Given the description of an element on the screen output the (x, y) to click on. 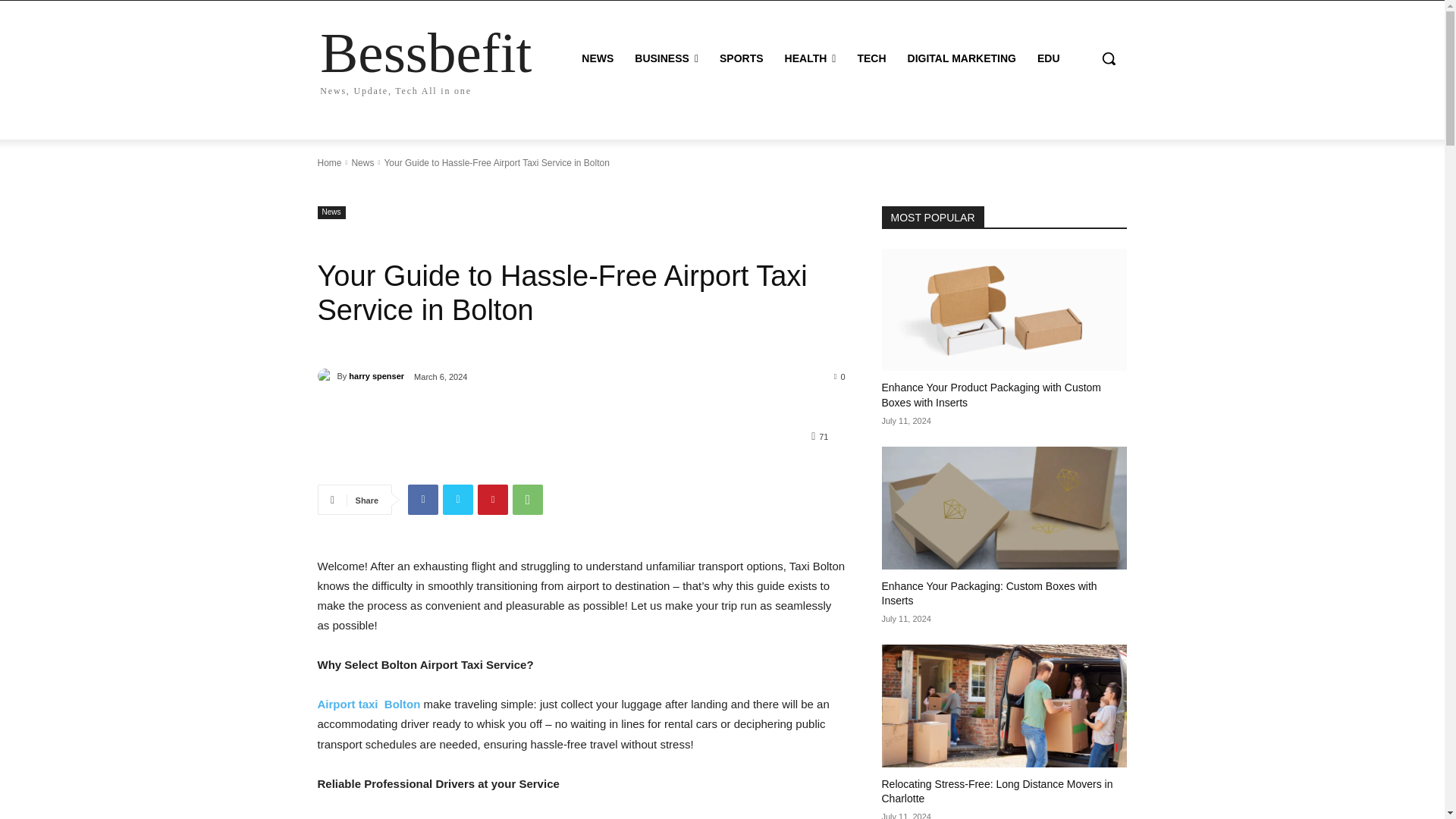
SPORTS (741, 58)
Home (328, 163)
Pinterest (492, 499)
TECH (870, 58)
View all posts in News (362, 163)
NEWS (597, 58)
harry spenser (326, 376)
WhatsApp (527, 499)
EDU (425, 58)
HEALTH (1048, 58)
BUSINESS (810, 58)
Facebook (666, 58)
DIGITAL MARKETING (422, 499)
Twitter (961, 58)
